Given the description of an element on the screen output the (x, y) to click on. 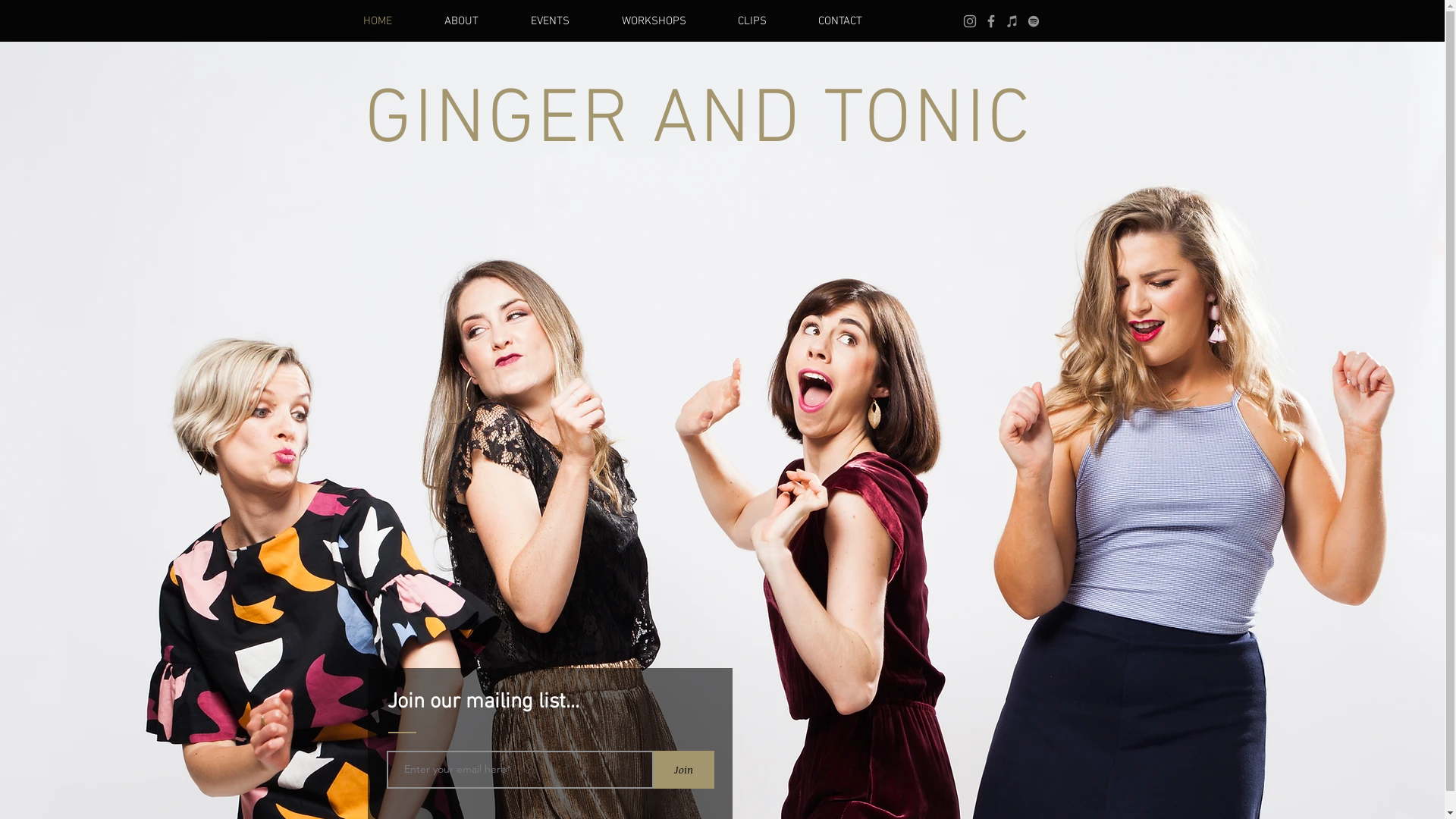
Join our mailing list... Element type: text (482, 702)
EVENTS Element type: text (563, 21)
WORKSHOPS Element type: text (667, 21)
CONTACT Element type: text (852, 21)
CLIPS Element type: text (764, 21)
HOME Element type: text (390, 21)
GINGER AND TONIC Element type: text (697, 121)
Join Element type: text (683, 769)
ABOUT Element type: text (475, 21)
